Given the description of an element on the screen output the (x, y) to click on. 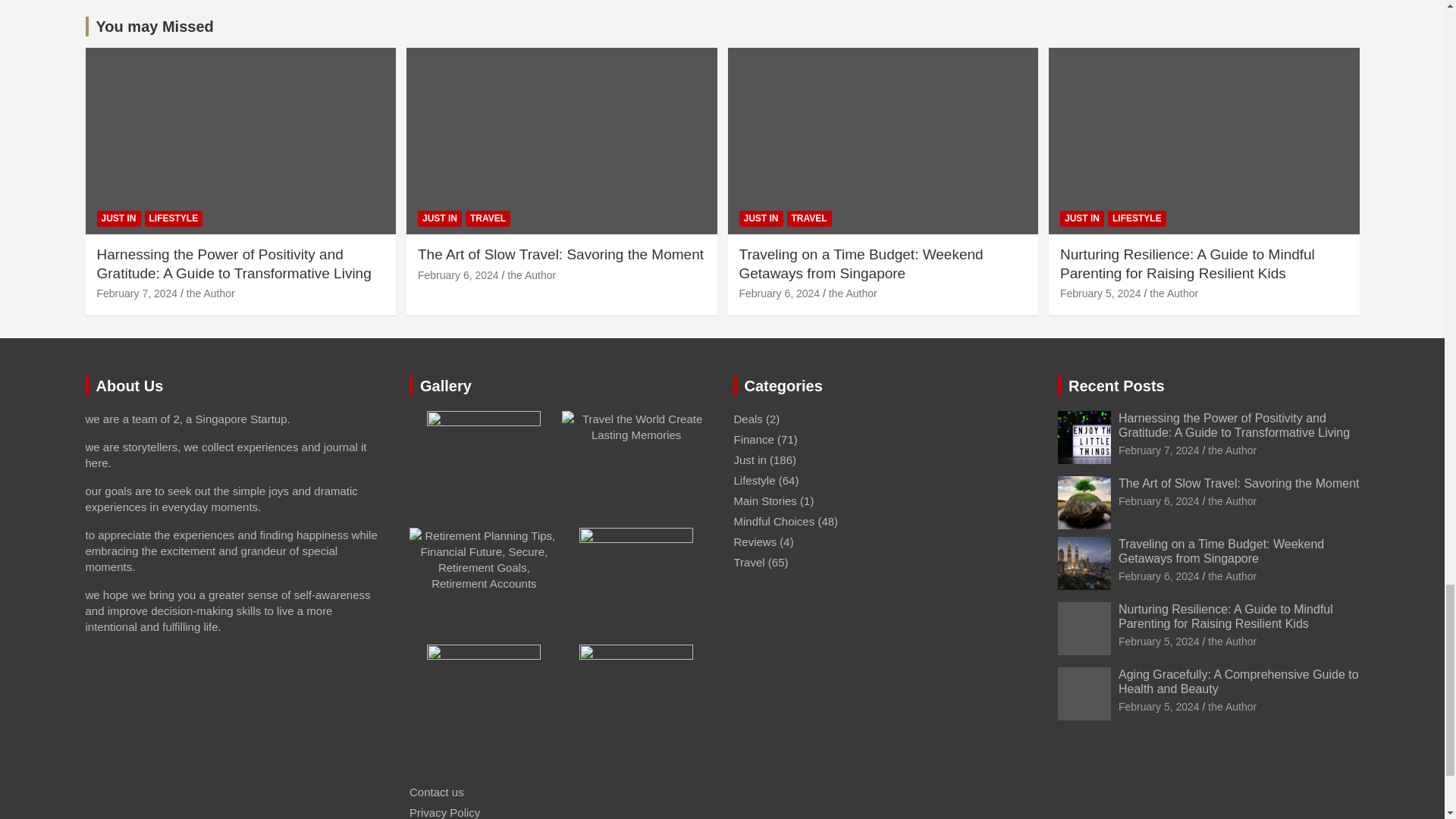
The Art of Slow Travel: Savoring the Moment (458, 275)
Traveling on a Time Budget: Weekend Getaways from Singapore (778, 293)
Traveling on a Time Budget: Weekend Getaways from Singapore (1158, 576)
The Art of Slow Travel: Savoring the Moment (1158, 500)
